Given the description of an element on the screen output the (x, y) to click on. 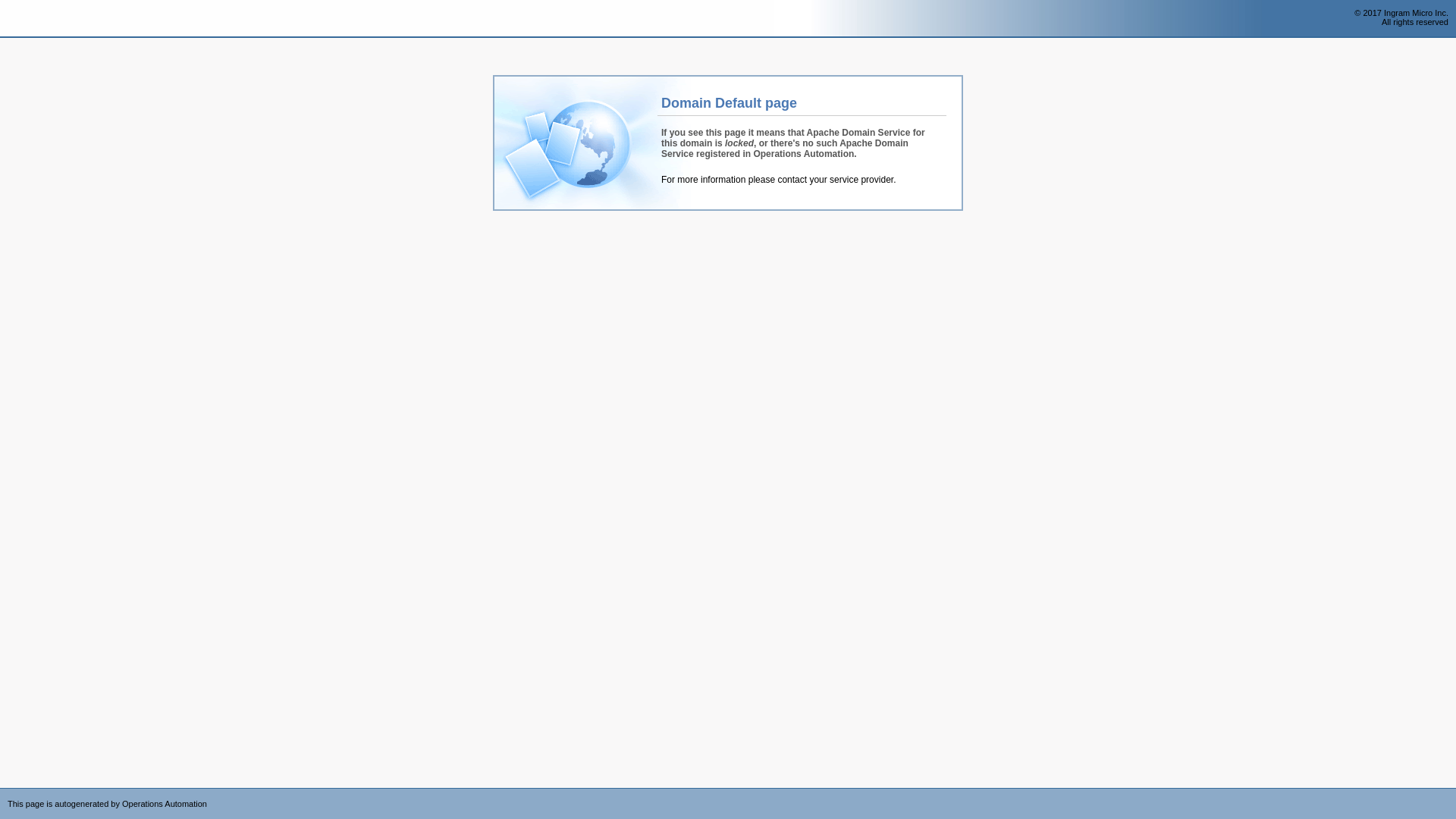
Operations Automation Element type: text (39, 18)
Powered by CloudBlue Commerce Element type: hover (1447, 792)
